Given the description of an element on the screen output the (x, y) to click on. 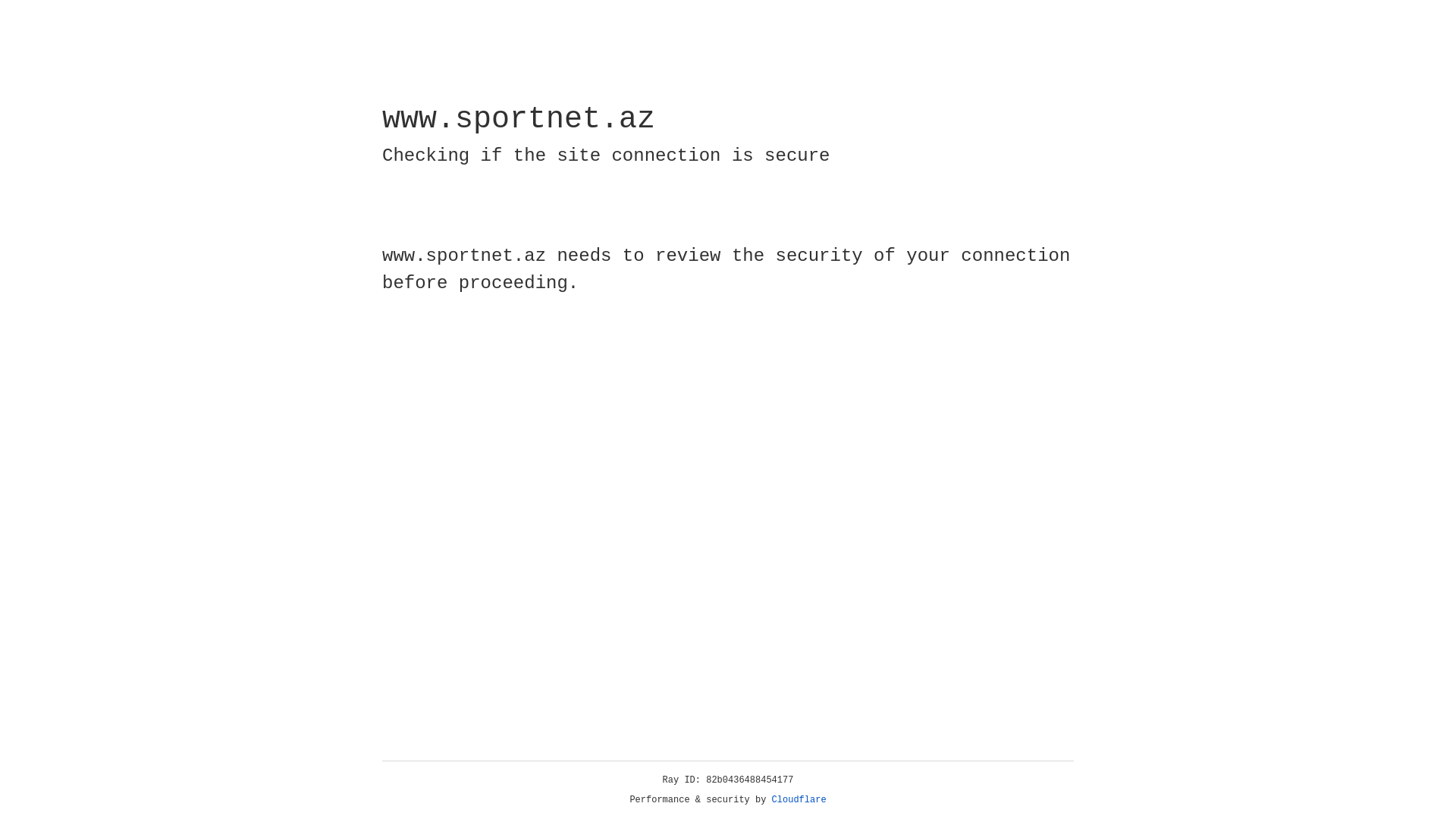
Cloudflare Element type: text (798, 799)
